Given the description of an element on the screen output the (x, y) to click on. 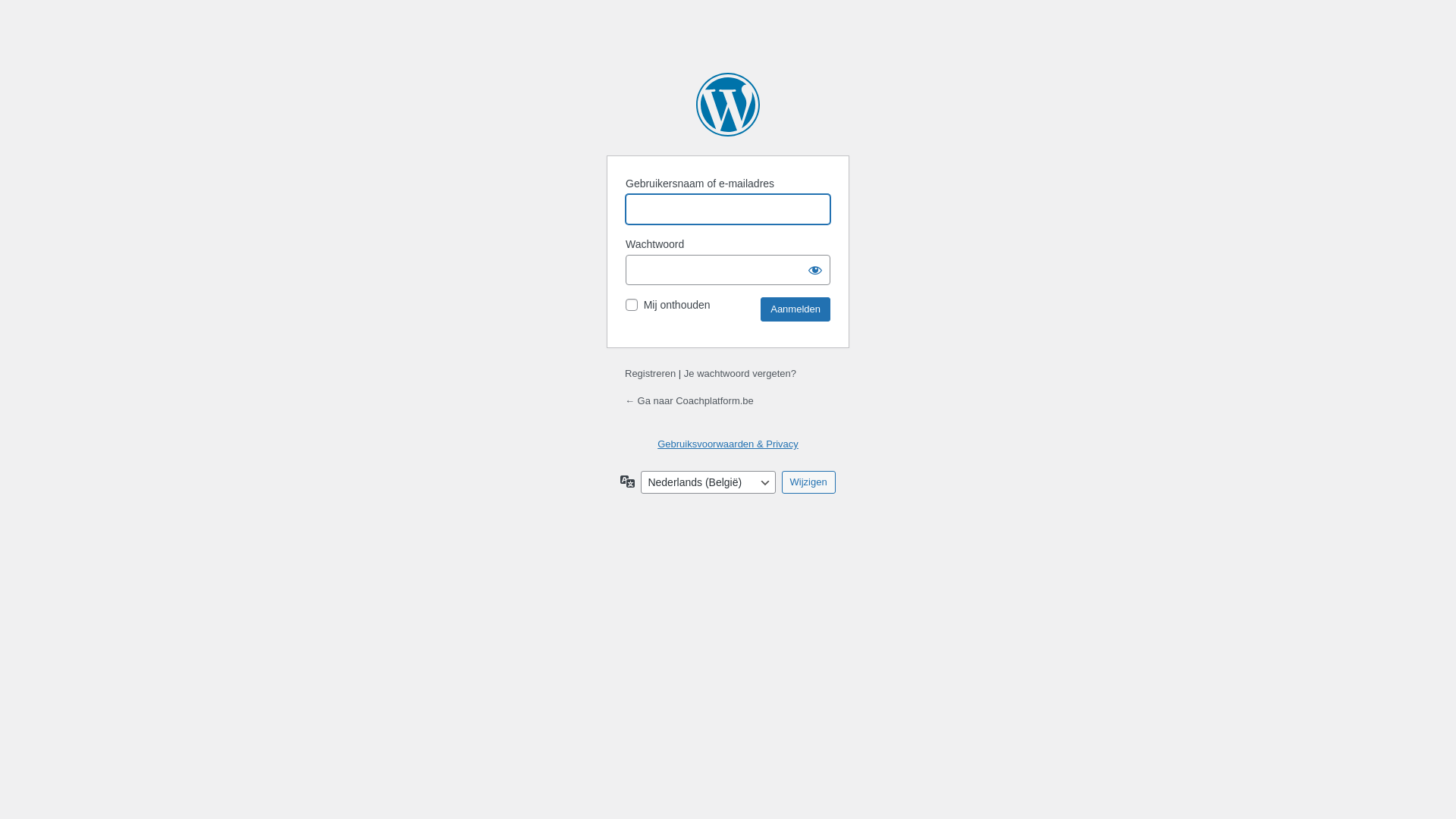
Registreren Element type: text (649, 373)
Gebruiksvoorwaarden & Privacy Element type: text (727, 443)
Aanmelden Element type: text (795, 309)
Mogelijk gemaakt door WordPress Element type: text (727, 104)
Wijzigen Element type: text (808, 481)
Je wachtwoord vergeten? Element type: text (740, 373)
